Given the description of an element on the screen output the (x, y) to click on. 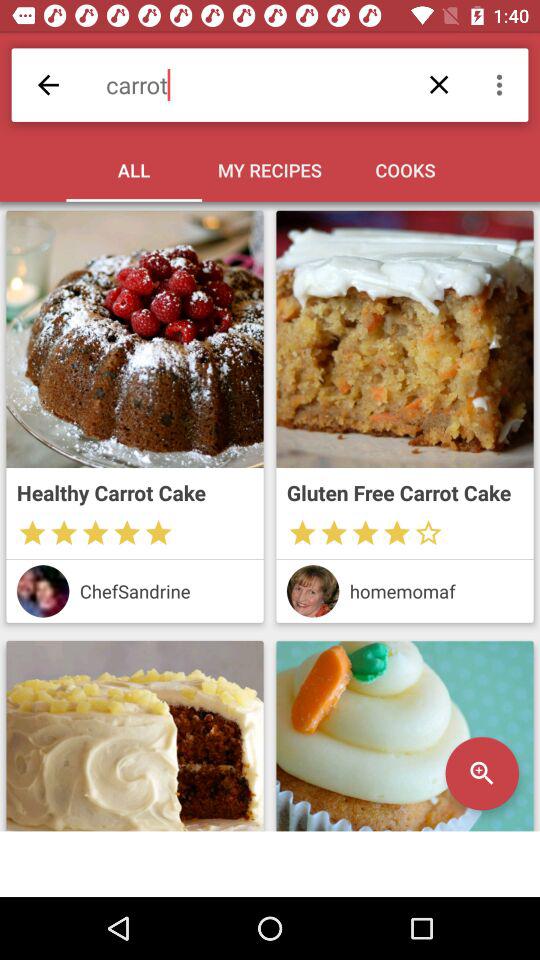
cake image (134, 735)
